Given the description of an element on the screen output the (x, y) to click on. 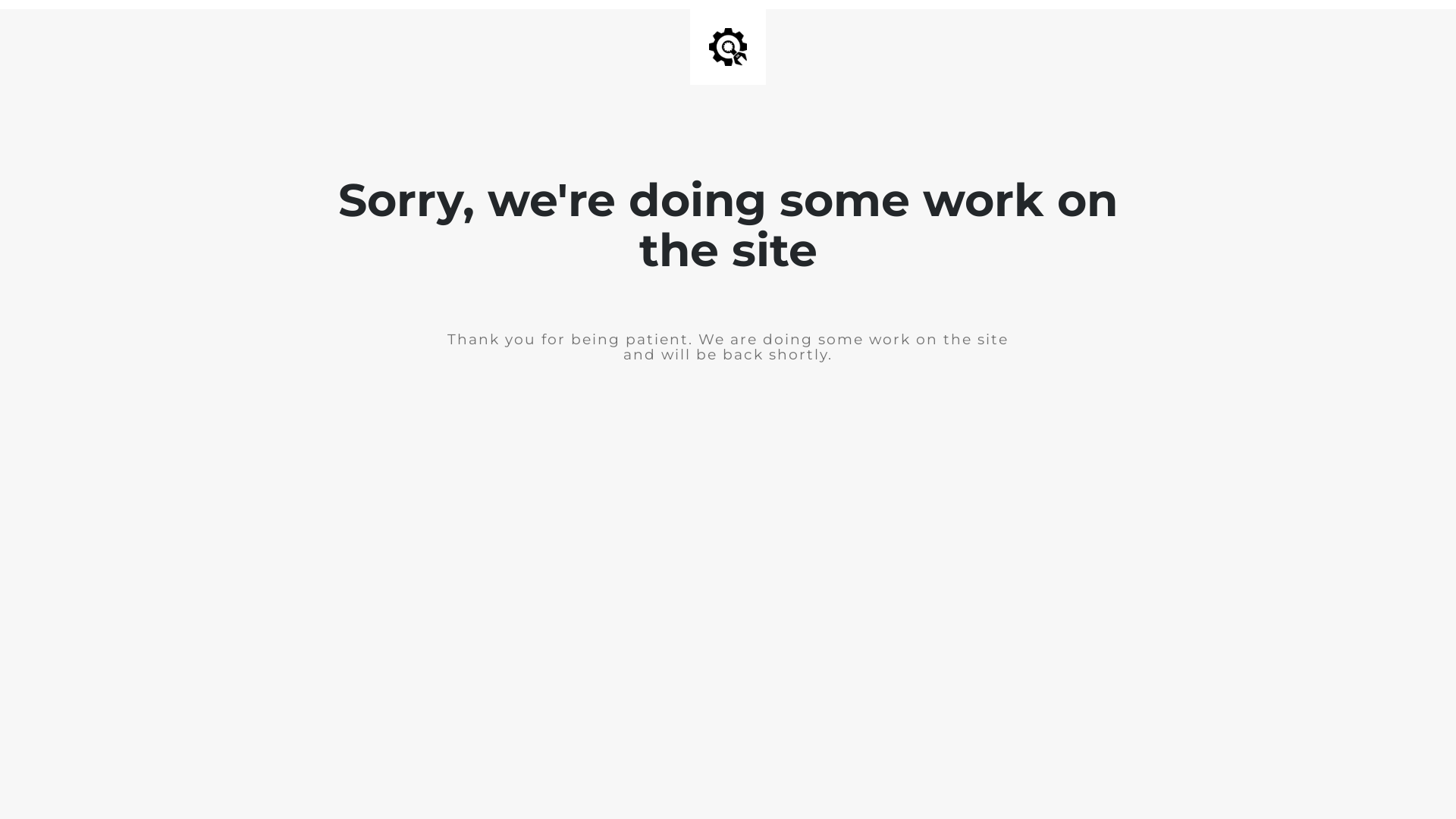
Site is Under Construction Element type: hover (727, 46)
